Given the description of an element on the screen output the (x, y) to click on. 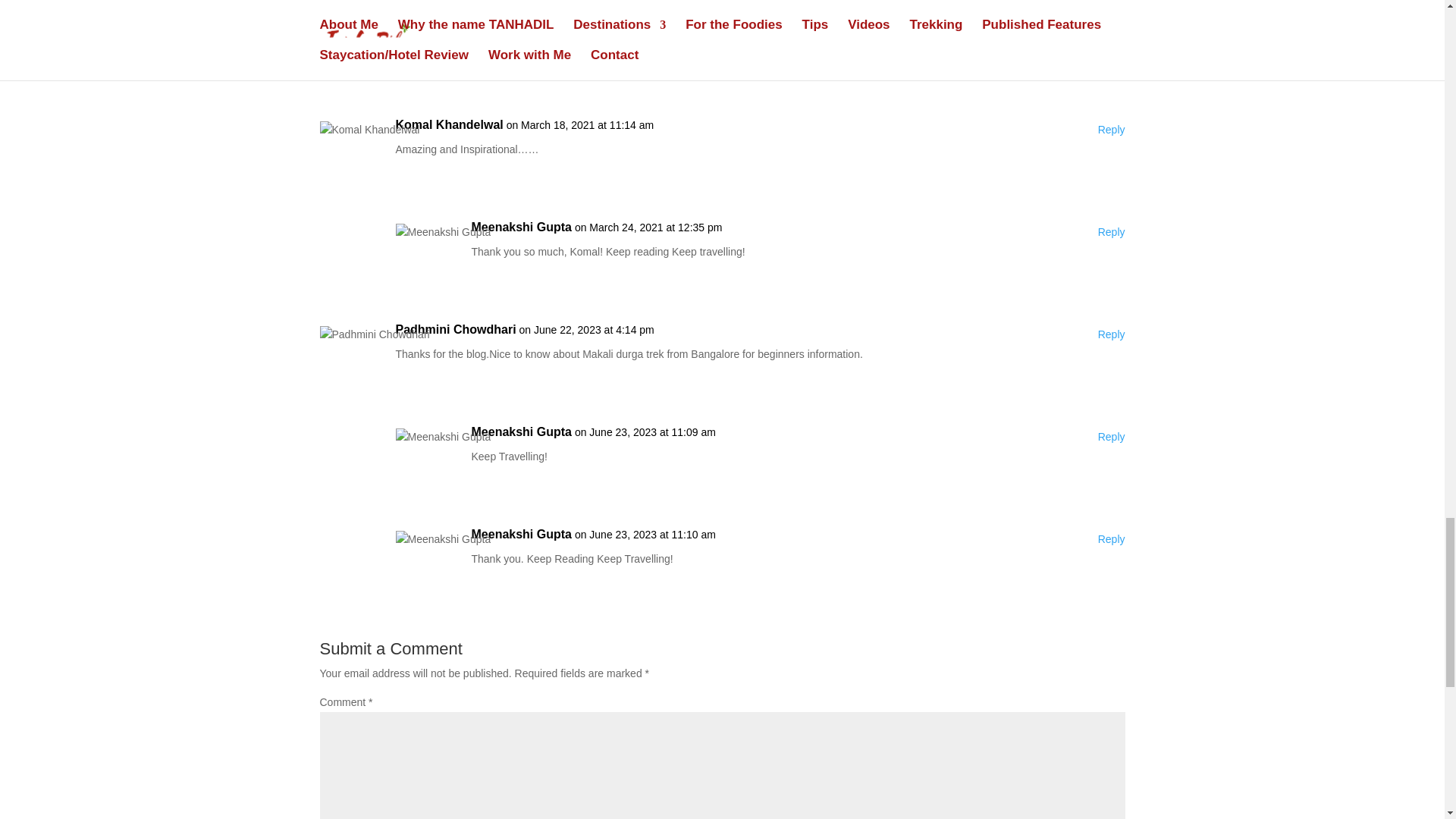
Reply (1111, 539)
Reply (1111, 437)
Reply (1111, 27)
Reply (1111, 130)
Padhmini Chowdhari (456, 330)
Reply (1111, 232)
Reply (1111, 334)
